Given the description of an element on the screen output the (x, y) to click on. 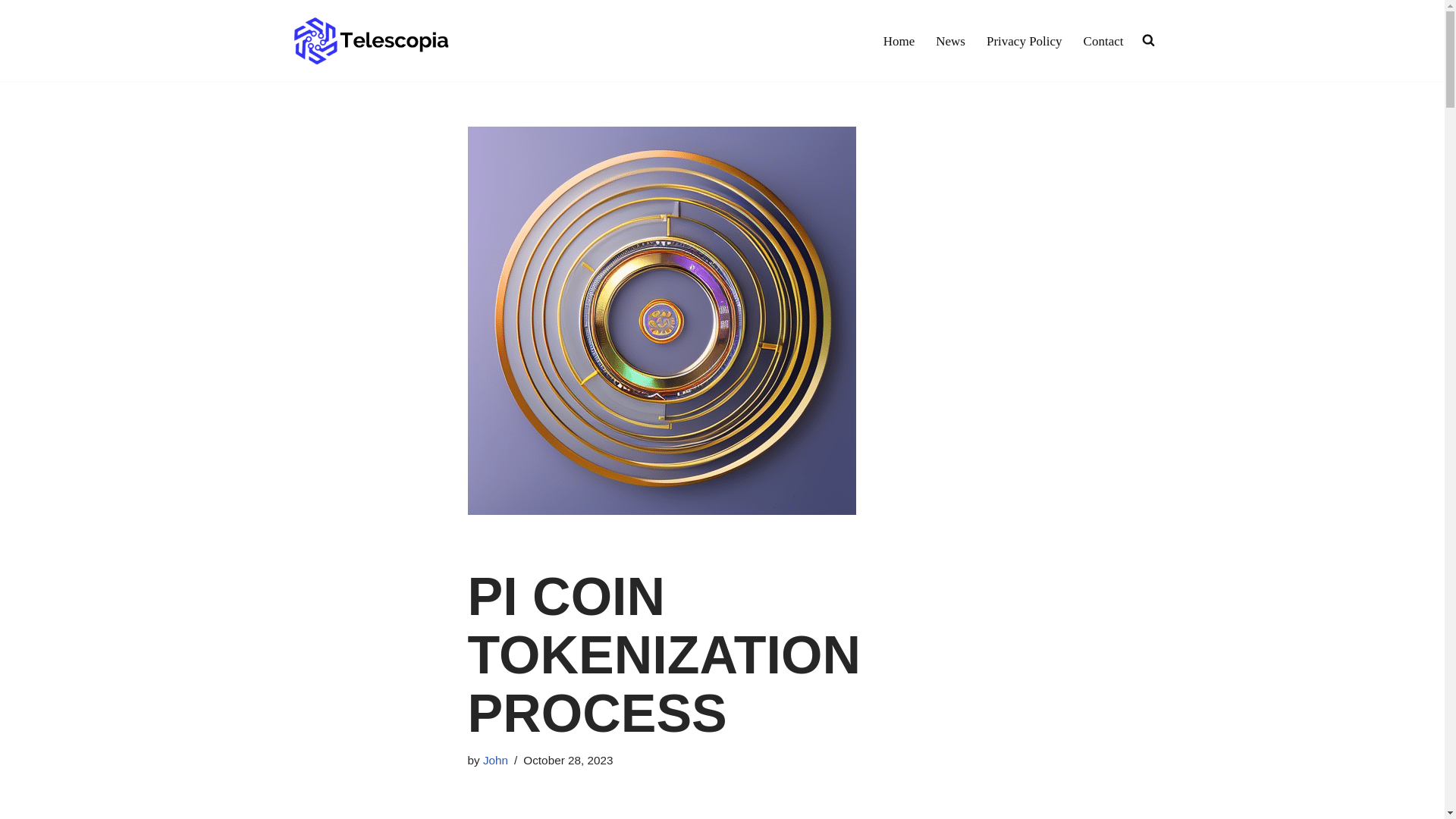
Privacy Policy (1024, 40)
Contact (1103, 40)
Skip to content (11, 31)
Home (899, 40)
News (950, 40)
Posts by John (495, 759)
John (495, 759)
